Given the description of an element on the screen output the (x, y) to click on. 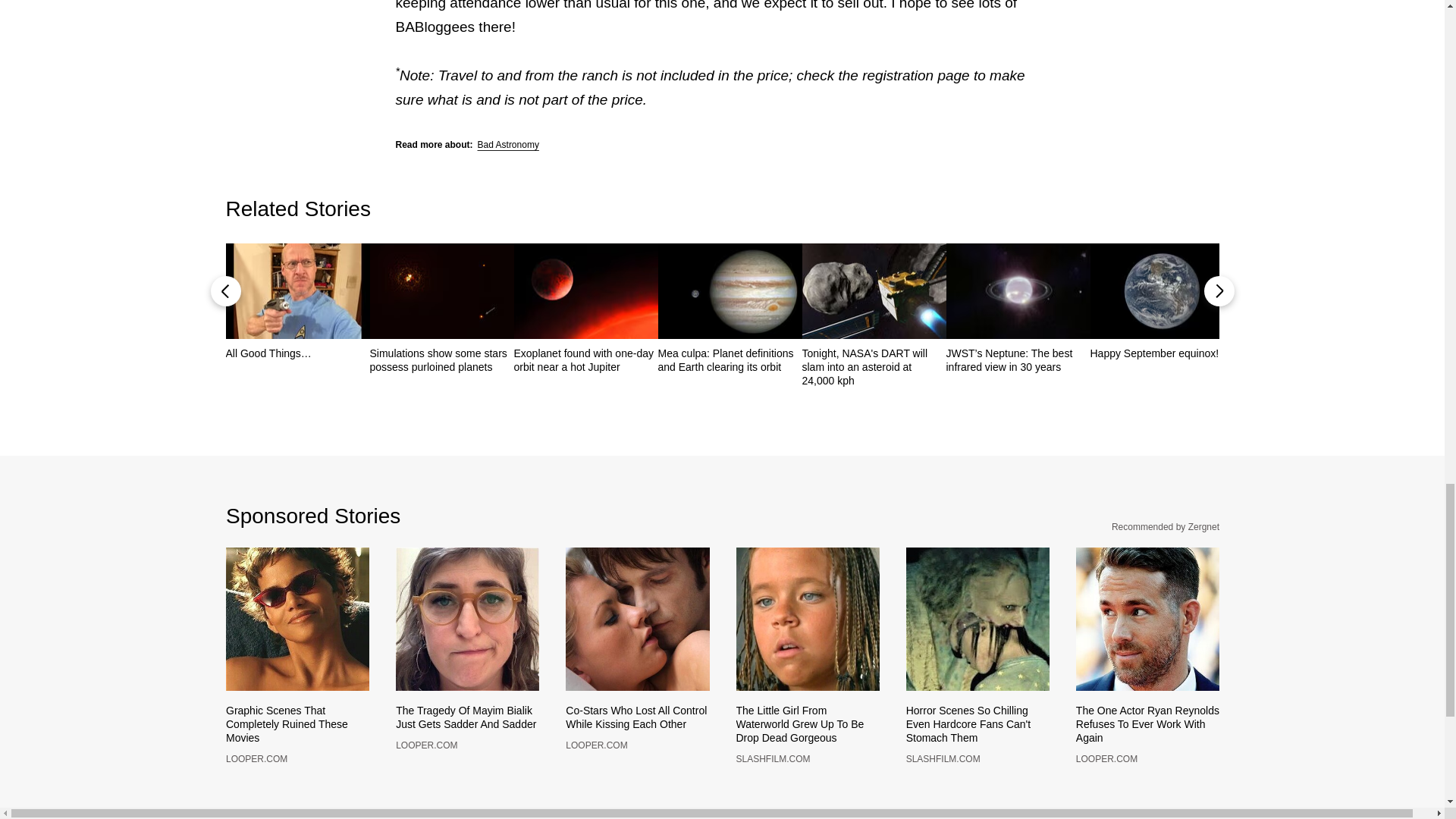
Bad Astronomy (507, 144)
Simulations show some stars possess purloined planets (441, 359)
Mea culpa: Planet definitions and Earth clearing its orbit (730, 359)
Exoplanet found with one-day orbit near a hot Jupiter (585, 359)
